Given the description of an element on the screen output the (x, y) to click on. 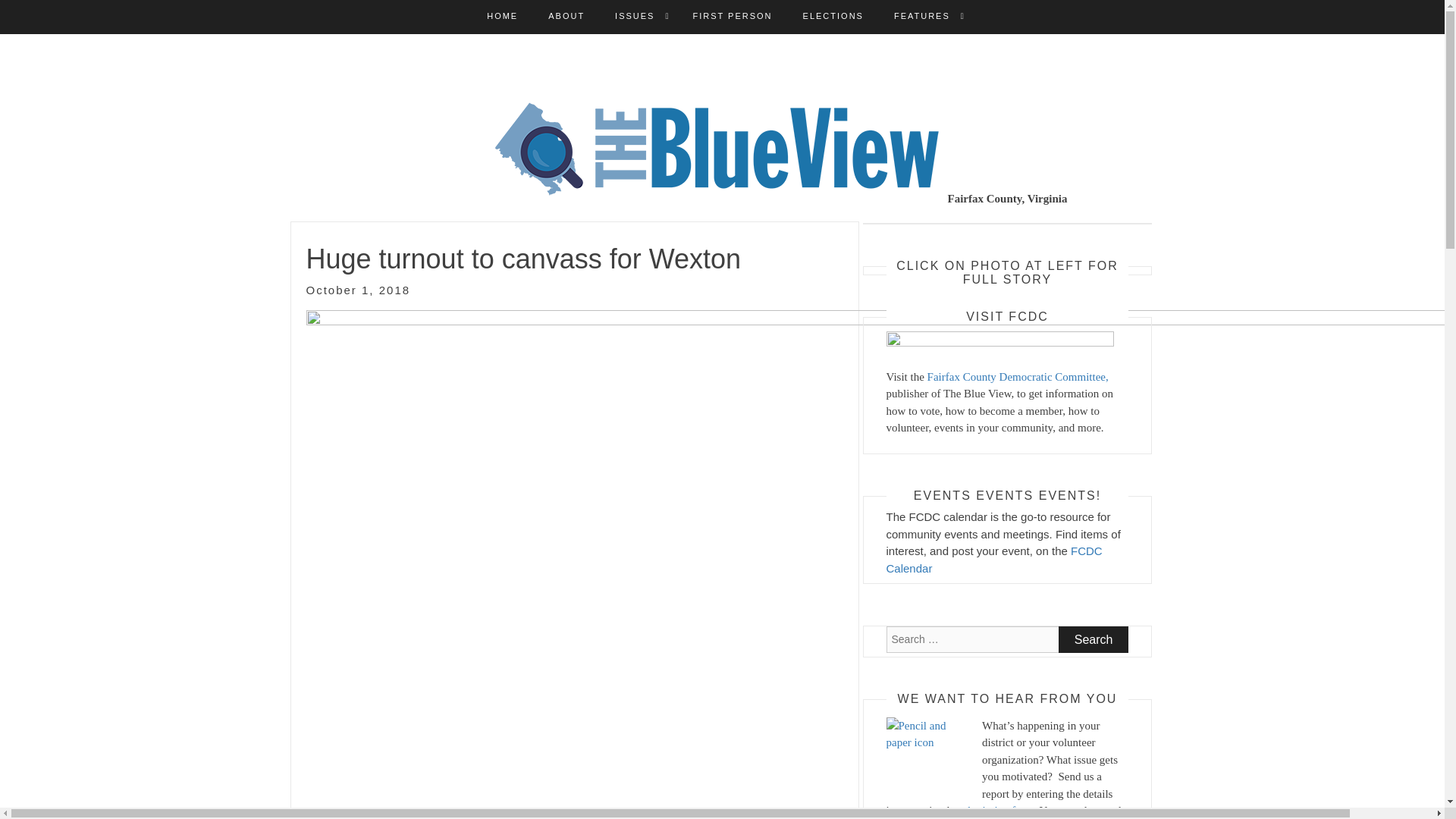
Search (1093, 639)
FCDC Calendar (993, 559)
FIRST PERSON (732, 17)
ISSUES (633, 17)
Search (1093, 639)
ELECTIONS (833, 17)
FEATURES (921, 17)
Search (1093, 639)
Fairfax County Democratic Committee, (1017, 376)
submission form (995, 810)
